Given the description of an element on the screen output the (x, y) to click on. 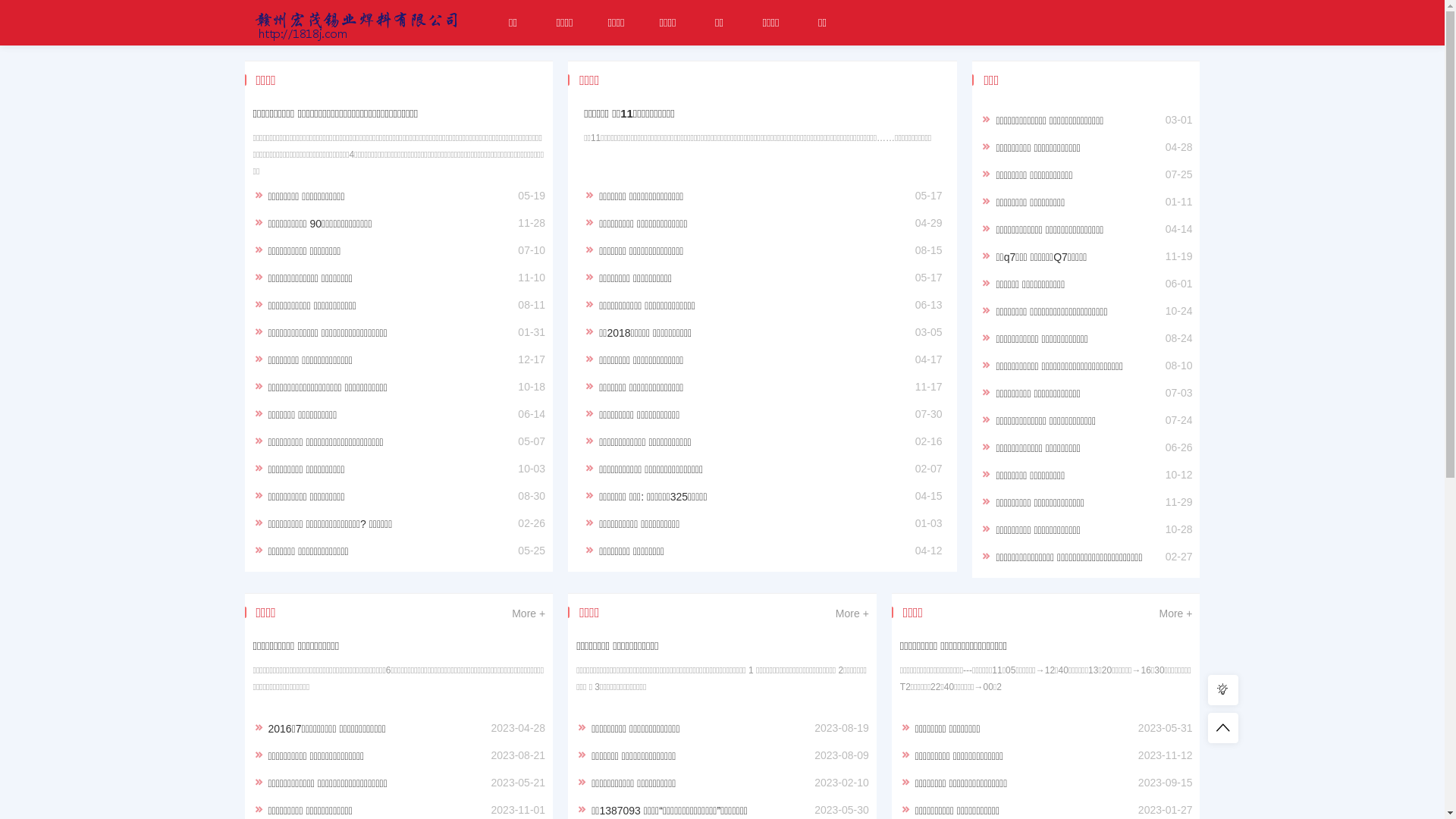
More + Element type: text (1175, 613)
More + Element type: text (852, 613)
More + Element type: text (528, 613)
